Given the description of an element on the screen output the (x, y) to click on. 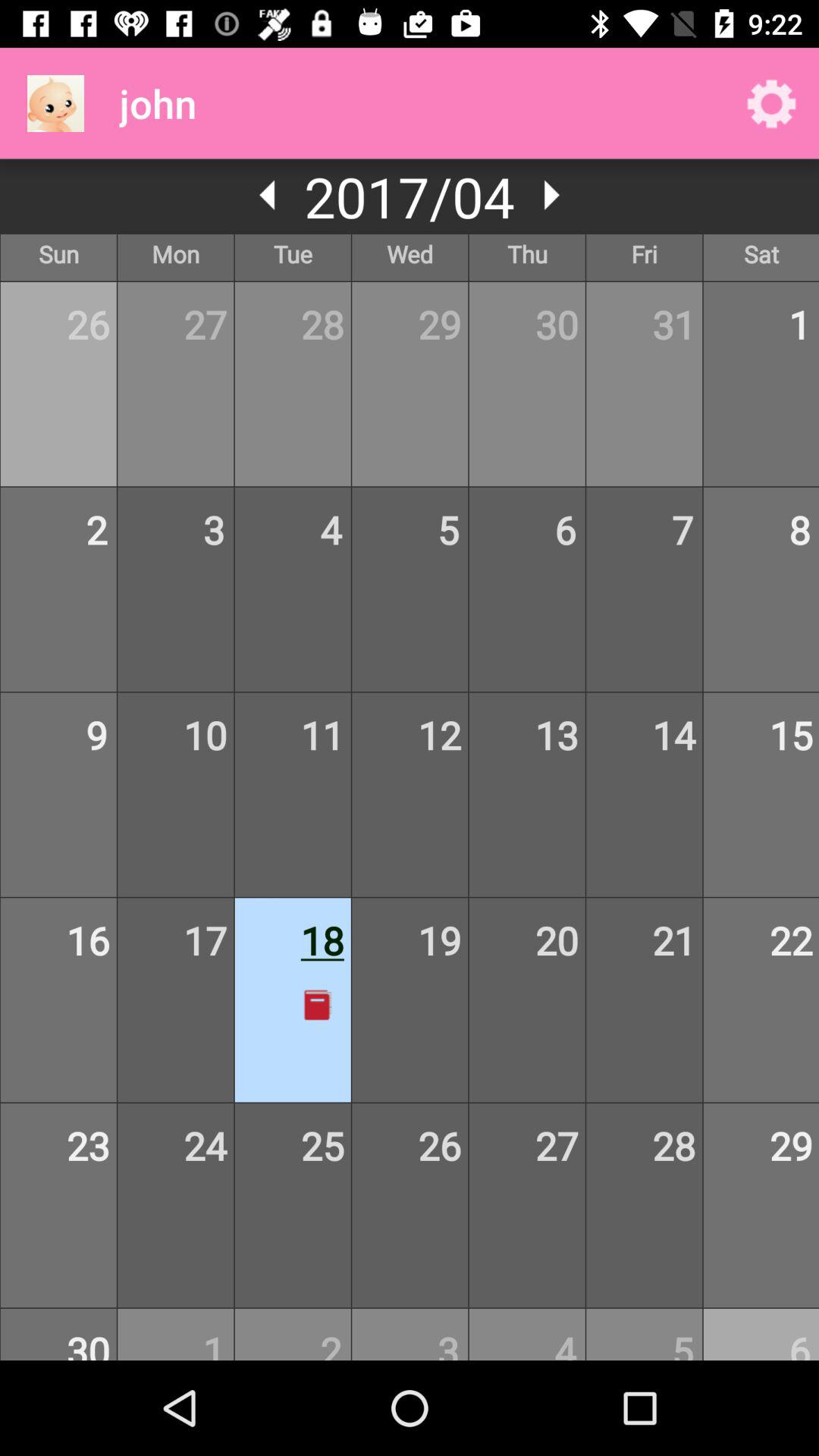
previous page (268, 194)
